Given the description of an element on the screen output the (x, y) to click on. 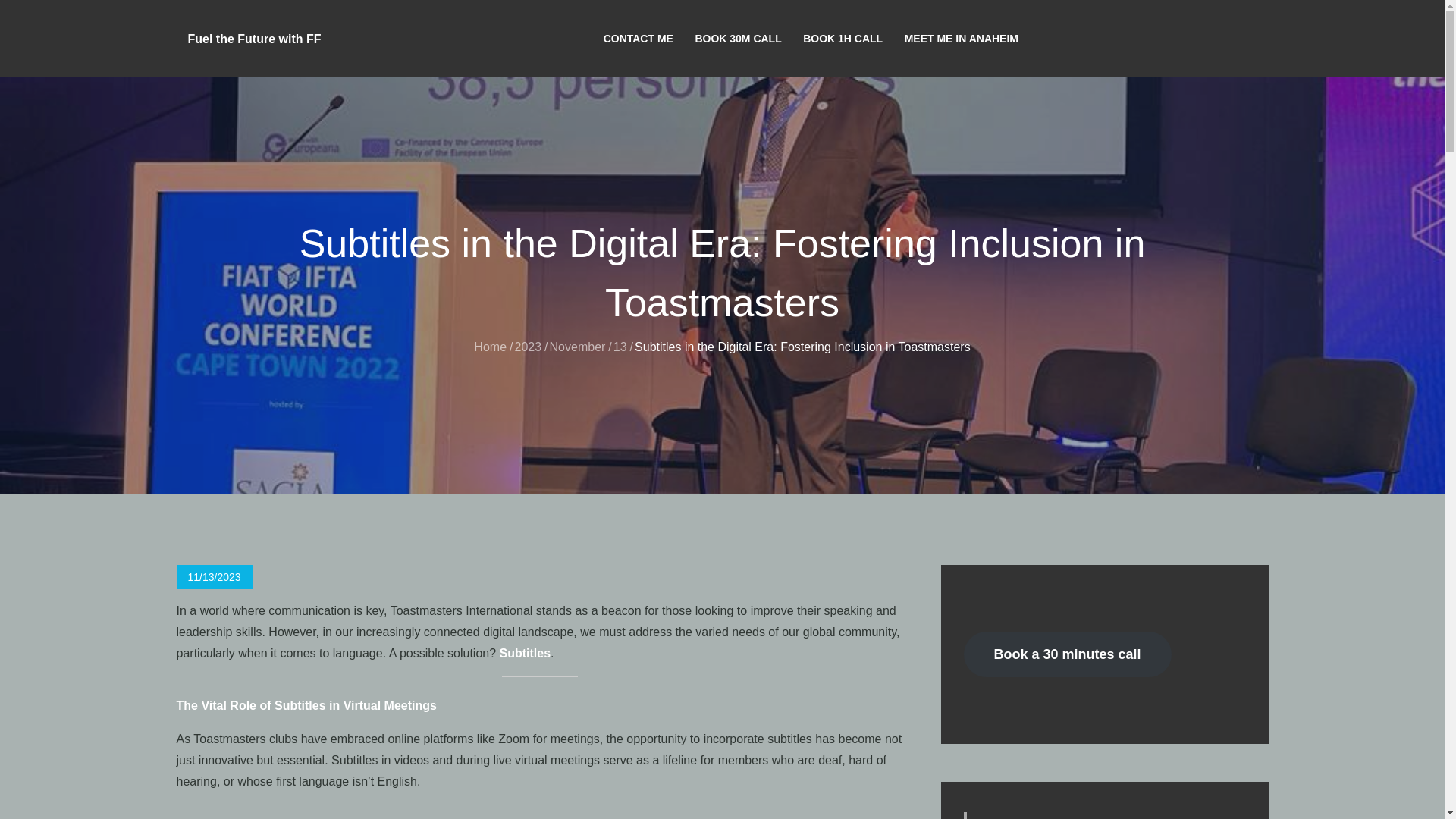
Home (490, 346)
BOOK 1H CALL (842, 38)
MEET ME IN ANAHEIM (961, 38)
CONTACT ME (638, 38)
2023 (527, 346)
BOOK 30M CALL (737, 38)
November (577, 346)
13 (619, 346)
